Given the description of an element on the screen output the (x, y) to click on. 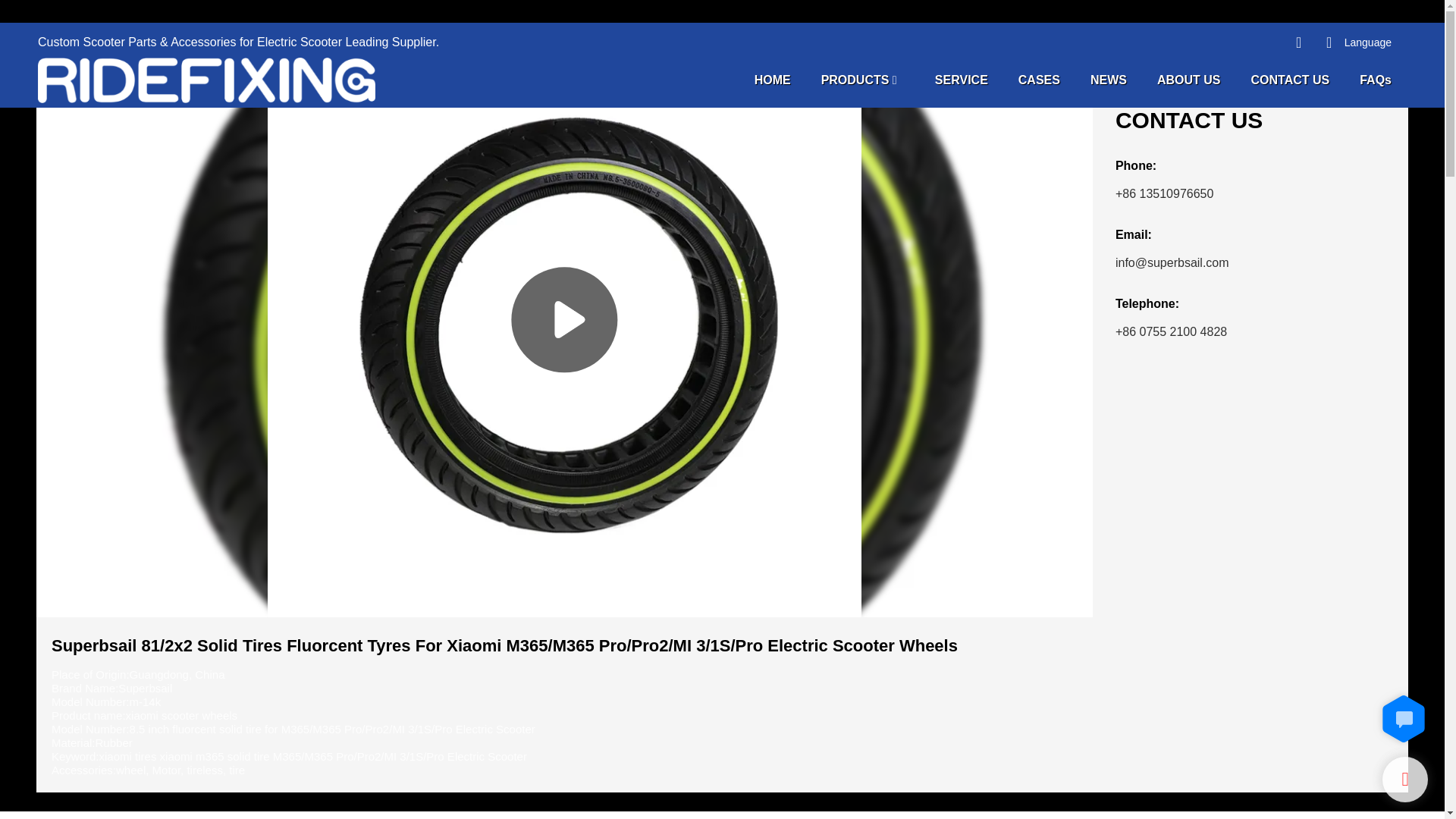
CASES (1038, 79)
CONTACT US (1290, 79)
SERVICE (961, 79)
HOME (772, 79)
ABOUT US (1189, 79)
FAQs (1375, 79)
PRODUCTS (855, 79)
NEWS (1108, 79)
